Given the description of an element on the screen output the (x, y) to click on. 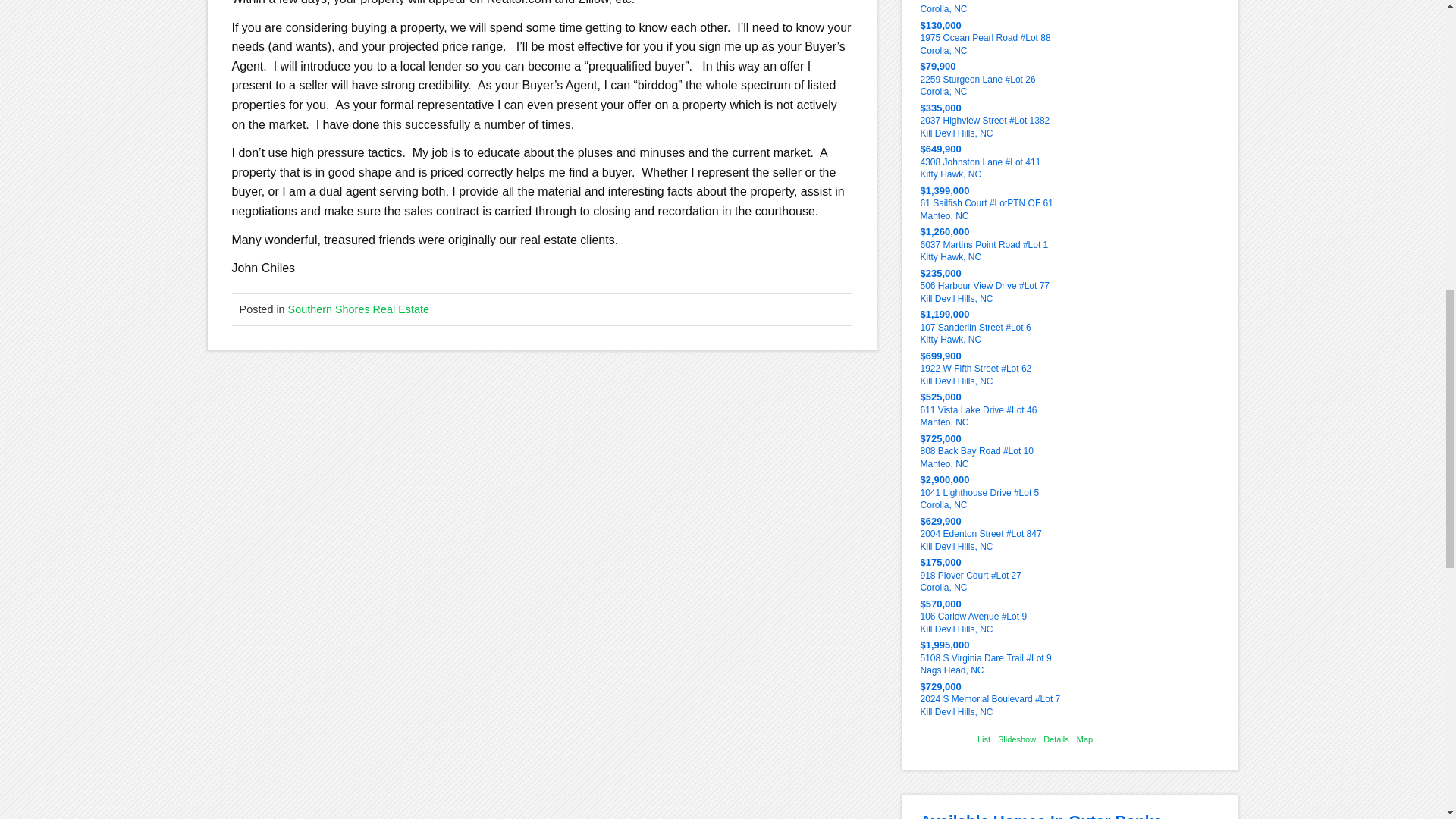
Southern Shores Real Estate (358, 309)
